Given the description of an element on the screen output the (x, y) to click on. 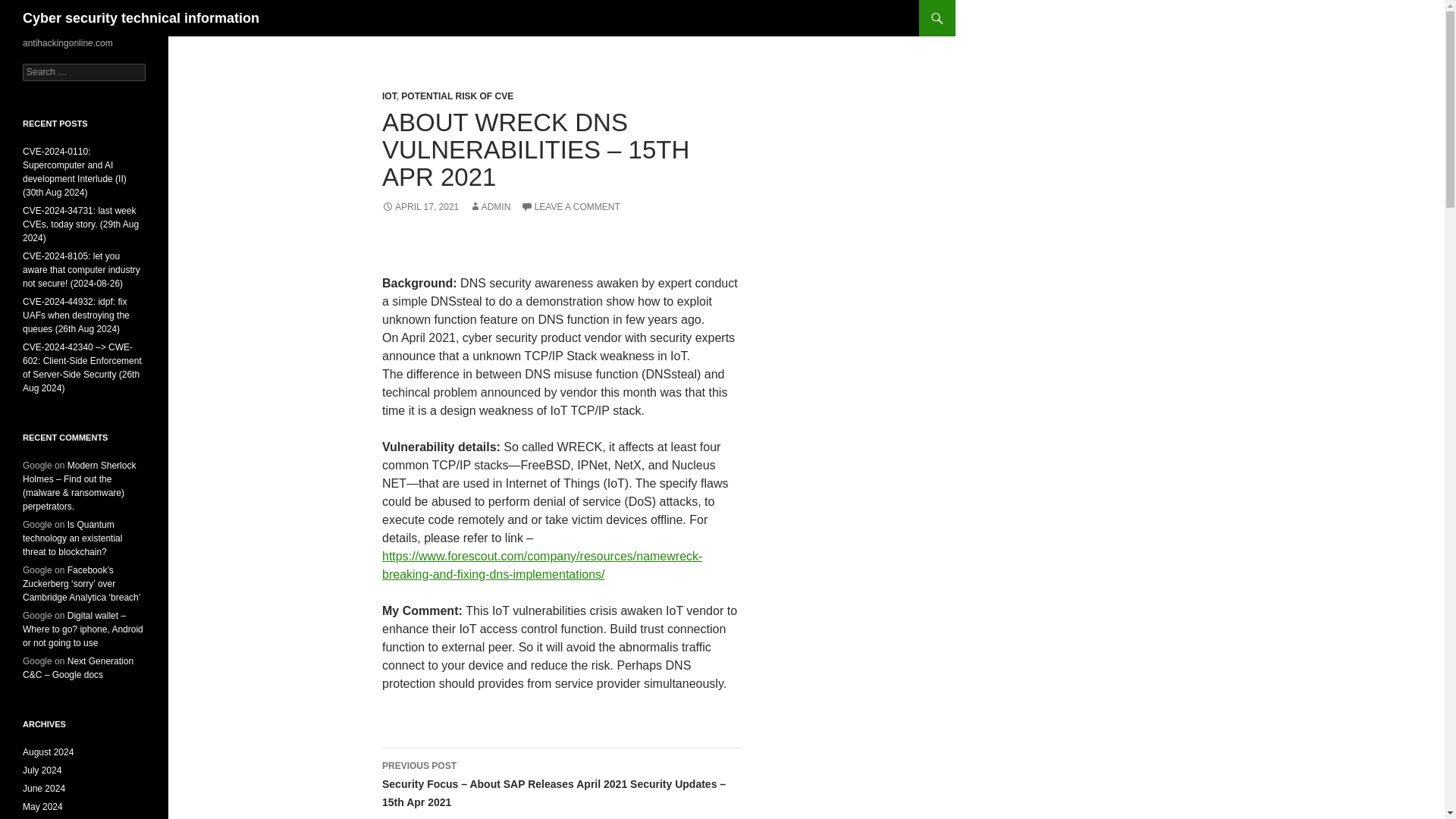
Search (30, 8)
Cyber security technical information (141, 18)
POTENTIAL RISK OF CVE (457, 95)
IOT (388, 95)
APRIL 17, 2021 (419, 206)
June 2024 (44, 787)
ADMIN (489, 206)
LEAVE A COMMENT (570, 206)
May 2024 (42, 806)
July 2024 (42, 769)
